Given the description of an element on the screen output the (x, y) to click on. 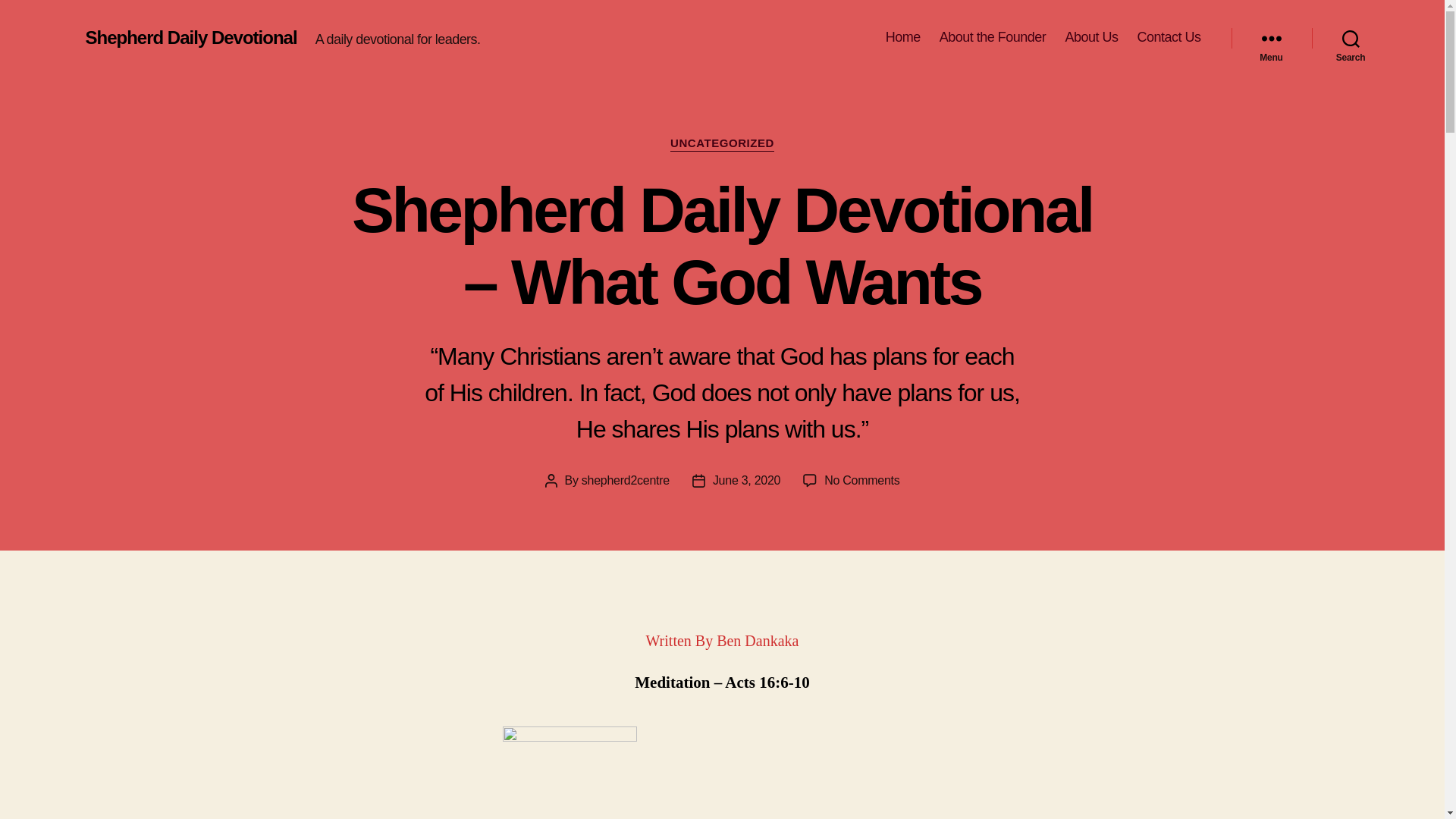
shepherd2centre Element type: text (625, 479)
About the Founder Element type: text (992, 37)
Menu Element type: text (1271, 37)
Contact Us Element type: text (1168, 37)
Home Element type: text (902, 37)
About Us Element type: text (1090, 37)
Shepherd Daily Devotional Element type: text (190, 37)
June 3, 2020 Element type: text (746, 479)
Search Element type: text (1350, 37)
UNCATEGORIZED Element type: text (722, 143)
